Given the description of an element on the screen output the (x, y) to click on. 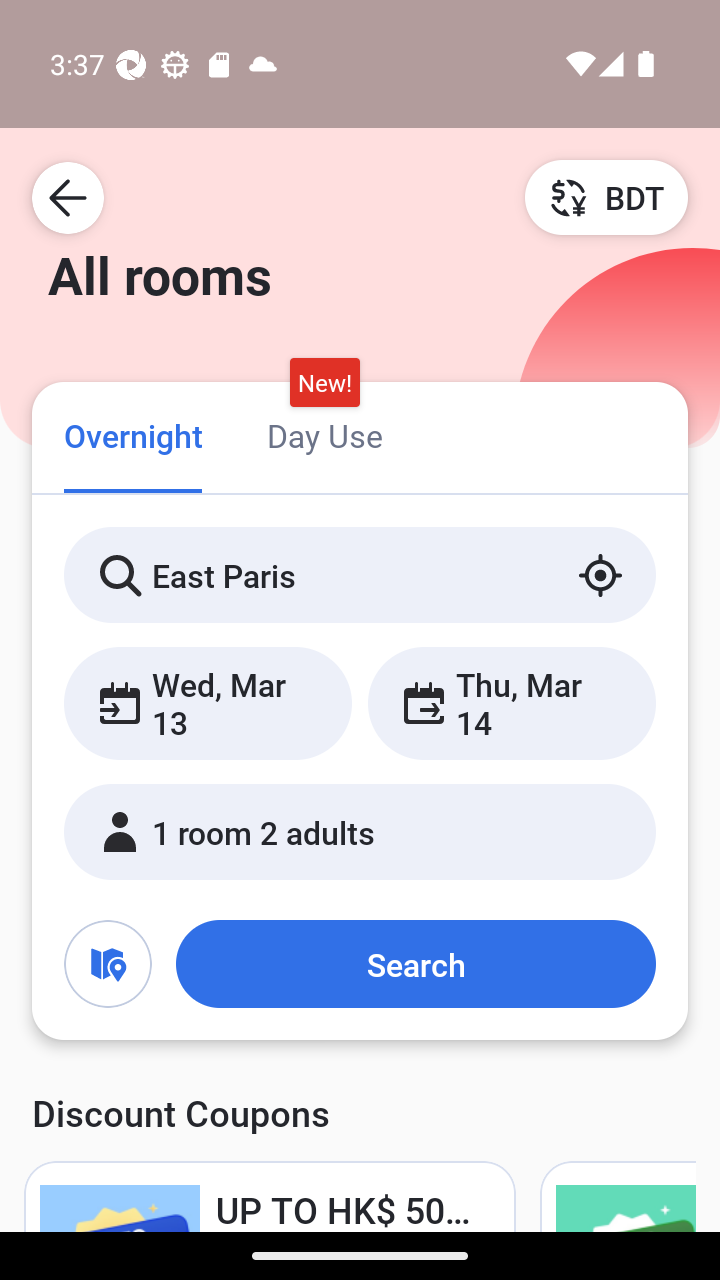
BDT (606, 197)
New! (324, 383)
Day Use (324, 434)
East Paris (359, 575)
Wed, Mar 13 (208, 703)
Thu, Mar 14 (511, 703)
1 room 2 adults (359, 831)
Search (415, 964)
